Given the description of an element on the screen output the (x, y) to click on. 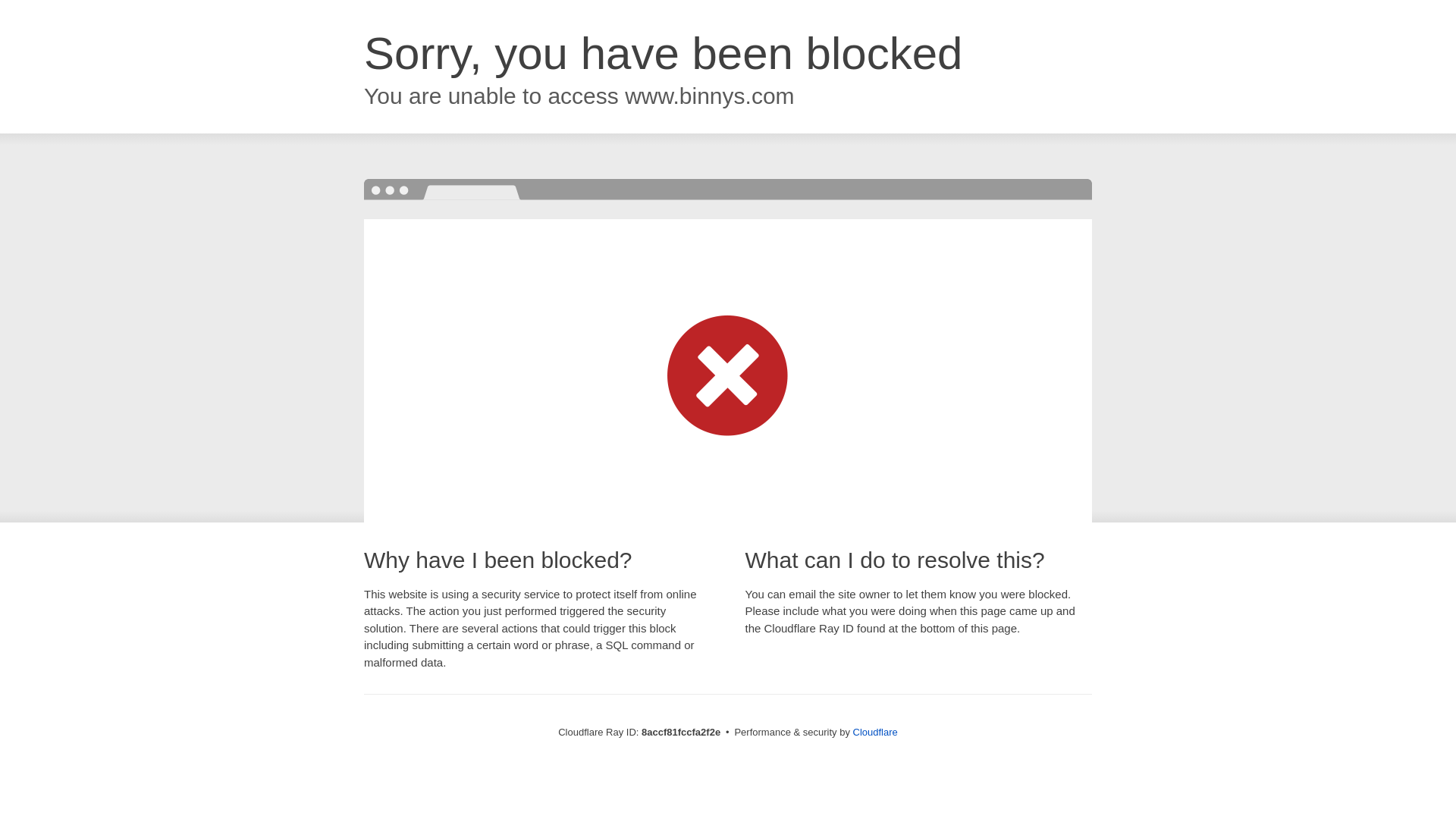
Cloudflare (875, 731)
